Given the description of an element on the screen output the (x, y) to click on. 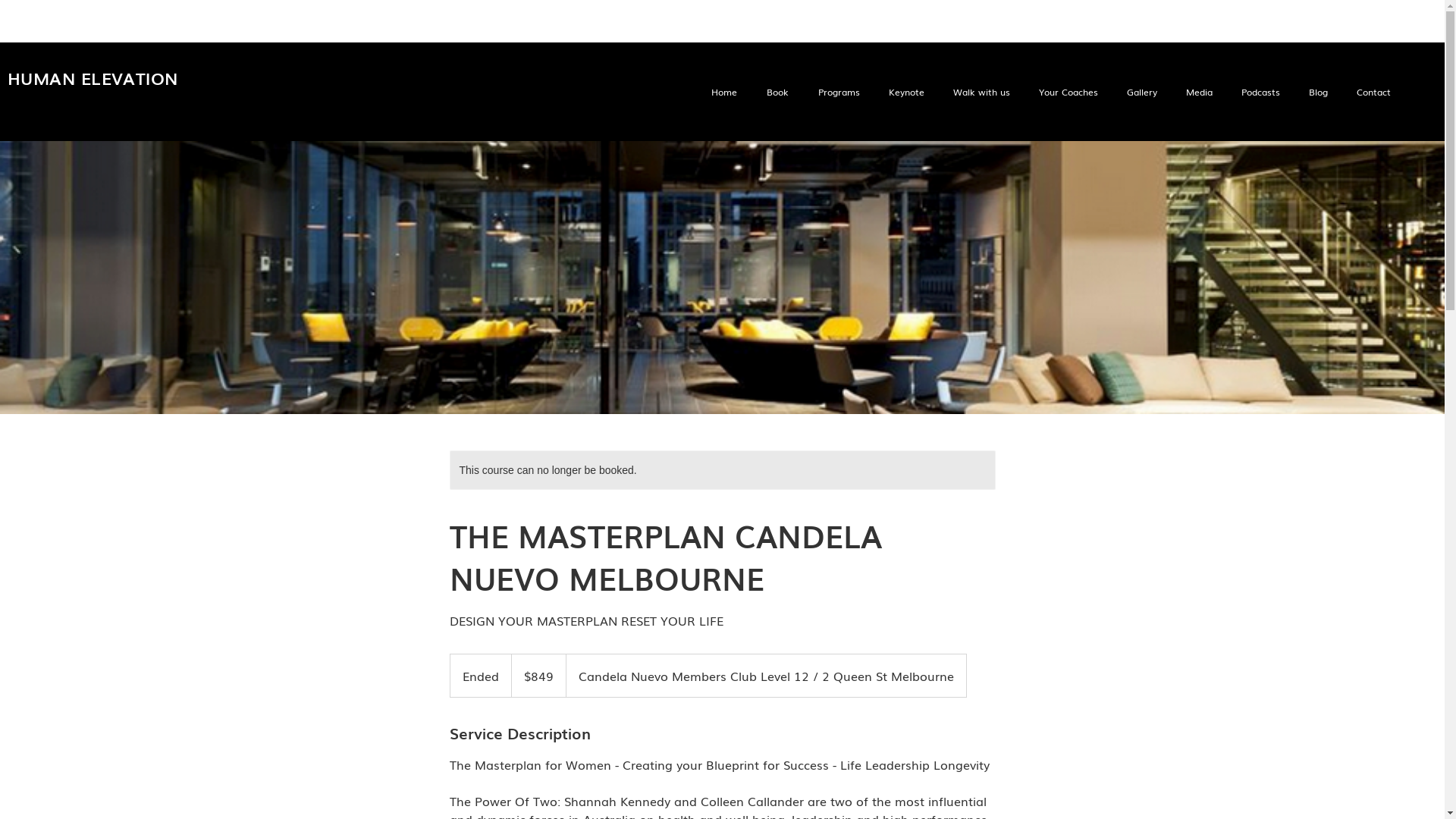
Your Coaches Element type: text (1065, 91)
Walk with us Element type: text (978, 91)
Contact Element type: text (1370, 91)
Home Element type: text (720, 91)
Blog Element type: text (1315, 91)
Programs Element type: text (835, 91)
Media Element type: text (1195, 91)
Keynote Element type: text (903, 91)
Podcasts Element type: text (1257, 91)
Gallery Element type: text (1138, 91)
Book Element type: text (774, 91)
HUMAN ELEVATION Element type: text (92, 77)
